Given the description of an element on the screen output the (x, y) to click on. 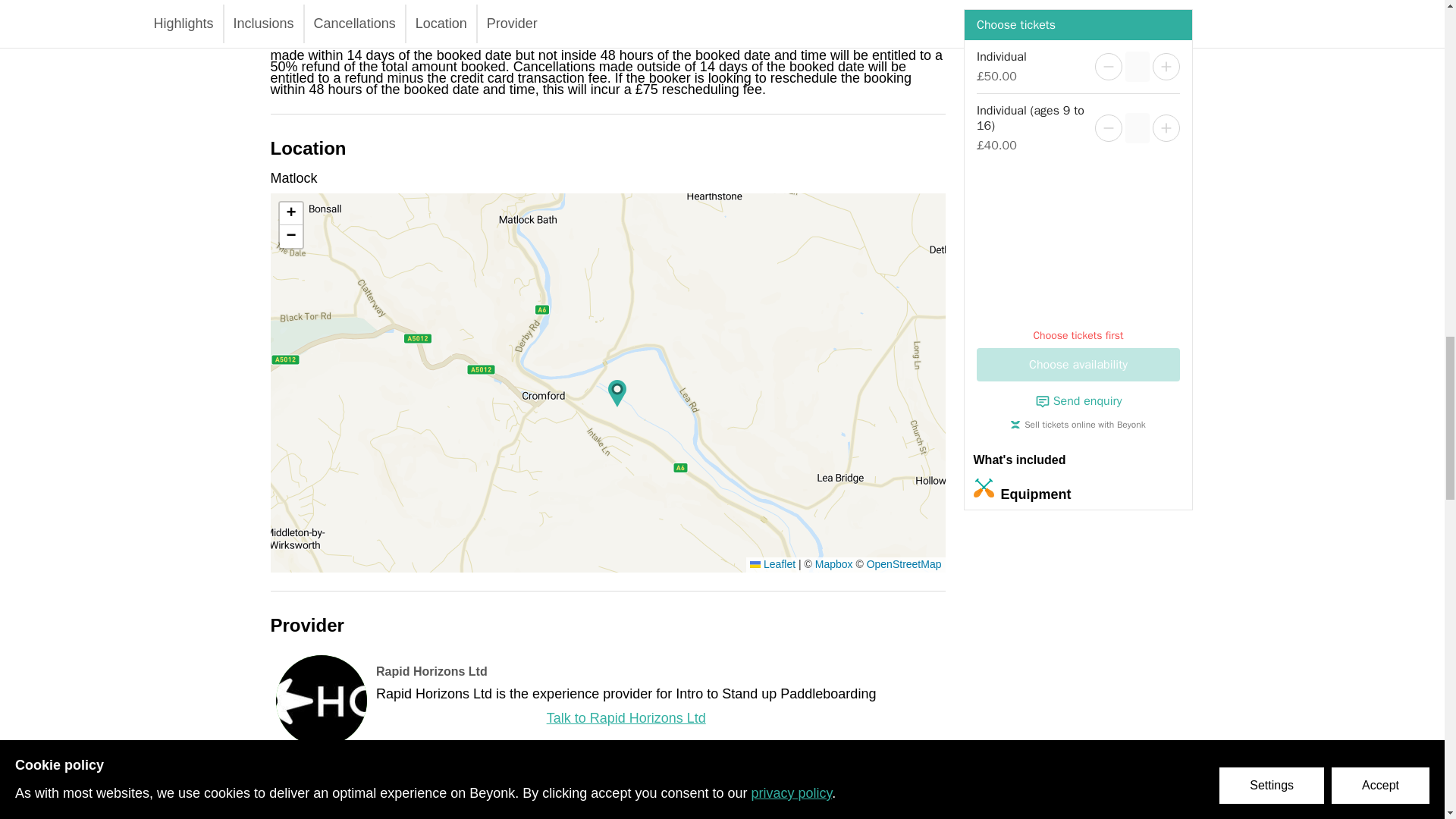
Leaflet (771, 563)
Rapid Horizons Ltd (431, 671)
Zoom out (290, 236)
A JavaScript library for interactive maps (771, 563)
Zoom in (290, 213)
Mapbox (834, 563)
Talk to Rapid Horizons Ltd (625, 718)
OpenStreetMap (904, 563)
